Given the description of an element on the screen output the (x, y) to click on. 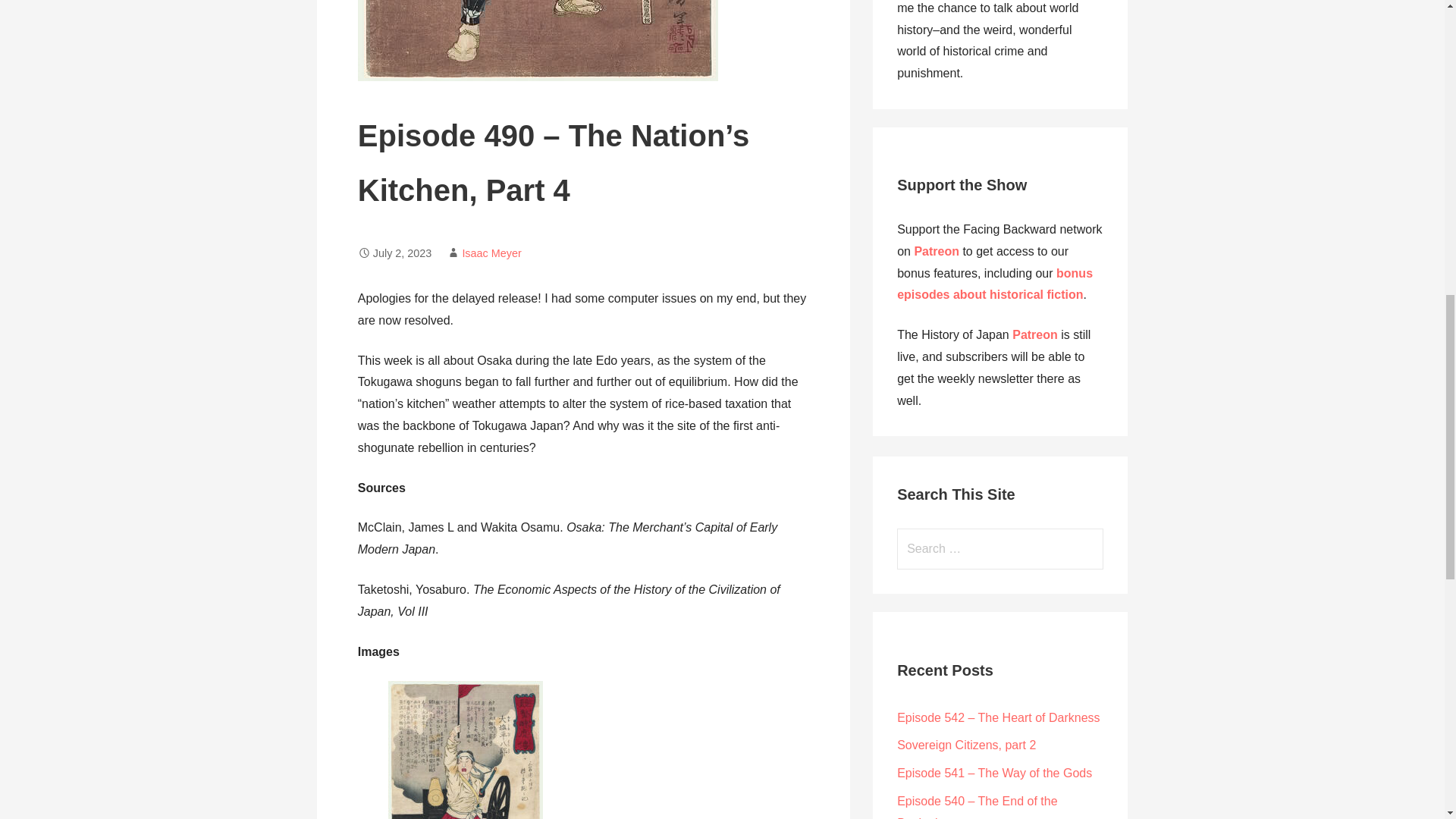
bonus episodes about historical fiction (994, 284)
Posts by Isaac Meyer (491, 253)
Sovereign Citizens, part 2 (965, 744)
Patreon (936, 250)
Isaac Meyer (491, 253)
Patreon (1036, 334)
